Given the description of an element on the screen output the (x, y) to click on. 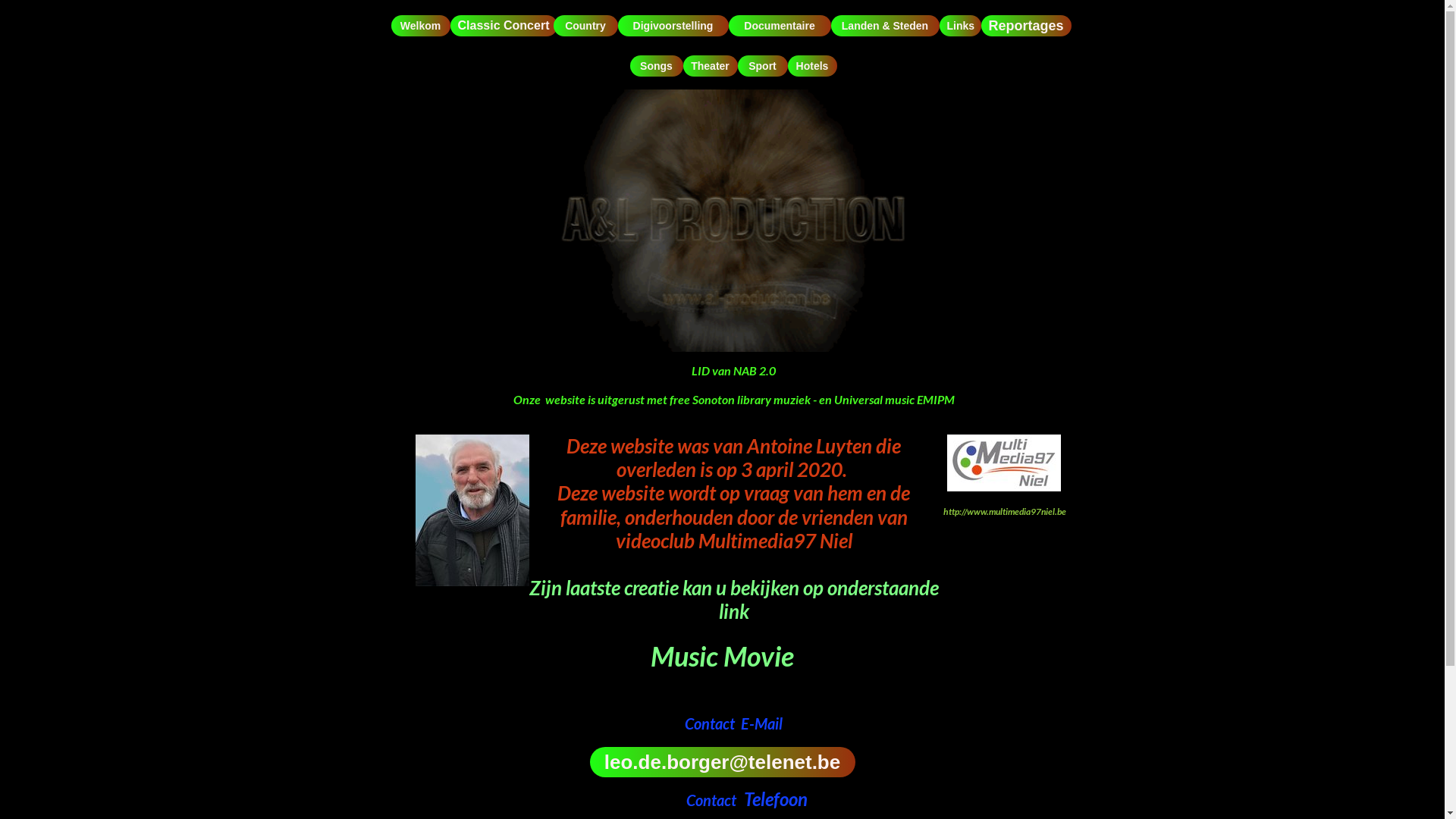
Links Element type: text (960, 25)
Classic Concert Element type: text (503, 25)
Theater Element type: text (709, 65)
Welkom Element type: text (420, 25)
Country Element type: text (585, 25)
Sport Element type: text (762, 65)
Landen & Steden Element type: text (885, 25)
Documentaire Element type: text (779, 25)
Reportages Element type: text (1026, 25)
Songs Element type: text (655, 65)
Hotels Element type: text (811, 65)
Music Movie Element type: text (721, 655)
  http://www.multimedia97niel.be   Element type: text (1004, 511)
leo.de.borger@telenet.be Element type: text (722, 761)
Digivoorstelling Element type: text (672, 25)
